Given the description of an element on the screen output the (x, y) to click on. 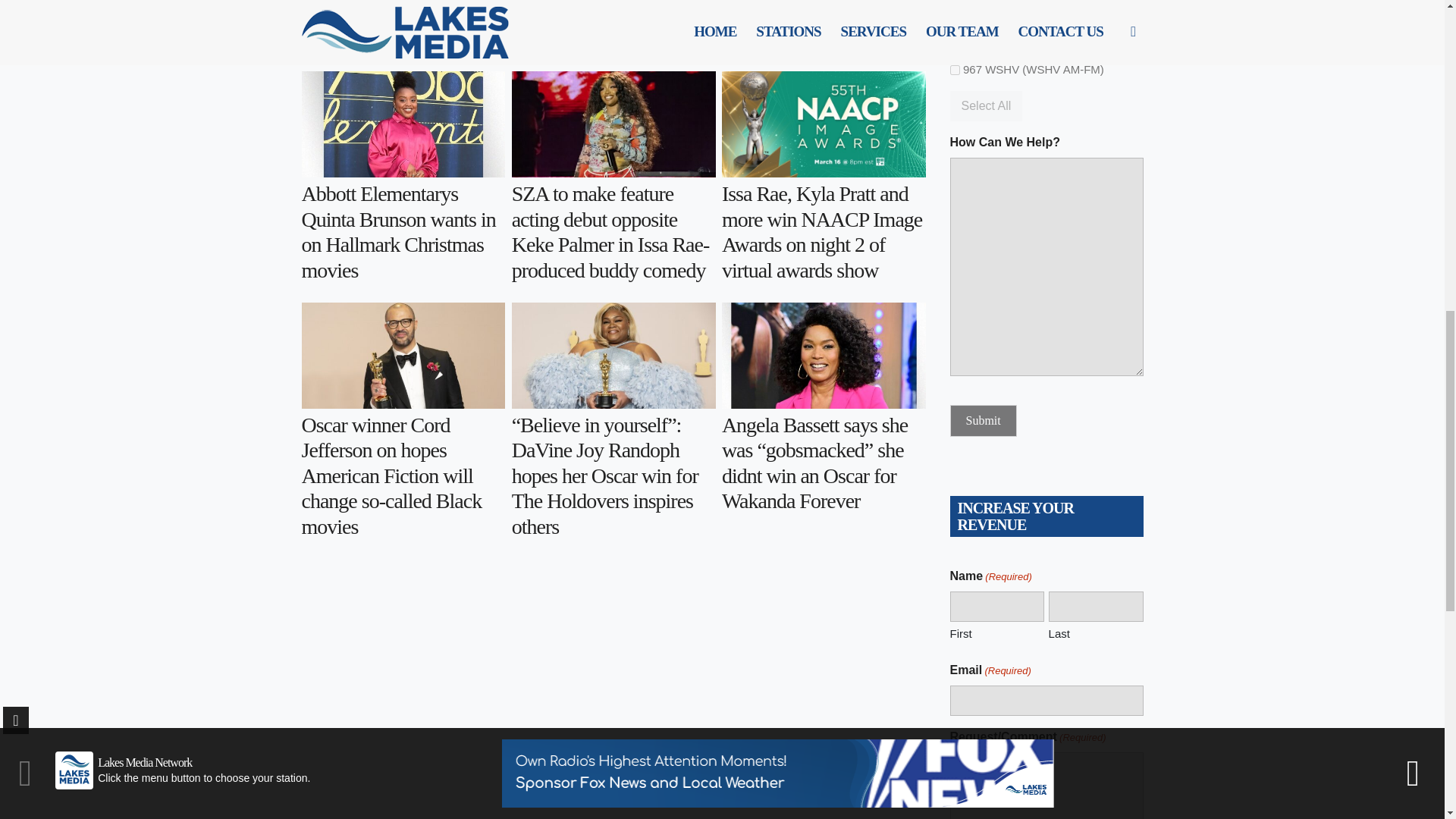
Submit (982, 420)
